Given the description of an element on the screen output the (x, y) to click on. 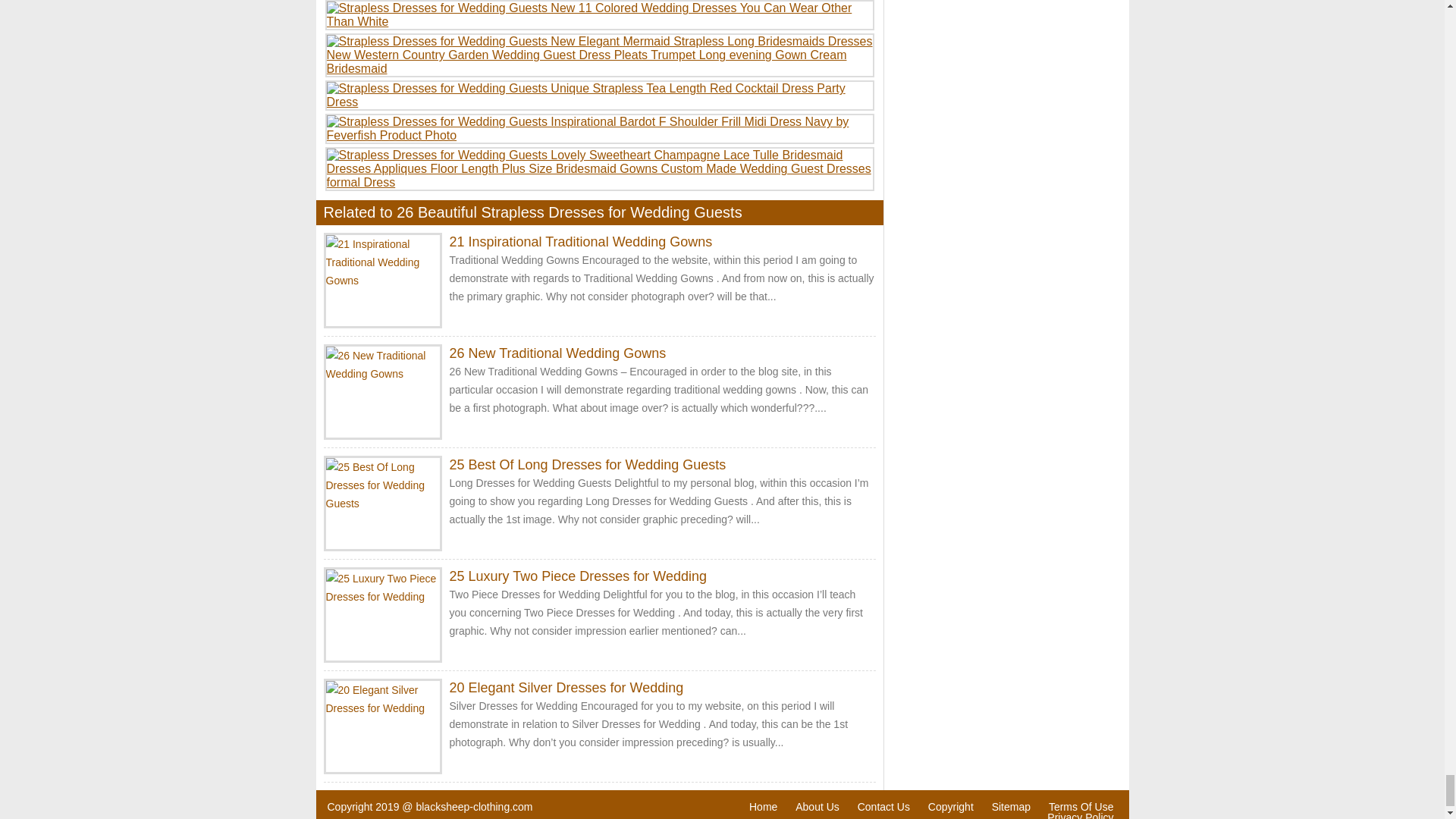
21 Inspirational Traditional Wedding Gowns (579, 241)
25 Luxury Two Piece Dresses for Wedding (577, 575)
25 Best Of Long Dresses for Wedding Guests (586, 464)
20 Elegant Silver Dresses for Wedding (565, 687)
26 New Traditional Wedding Gowns (556, 353)
